Given the description of an element on the screen output the (x, y) to click on. 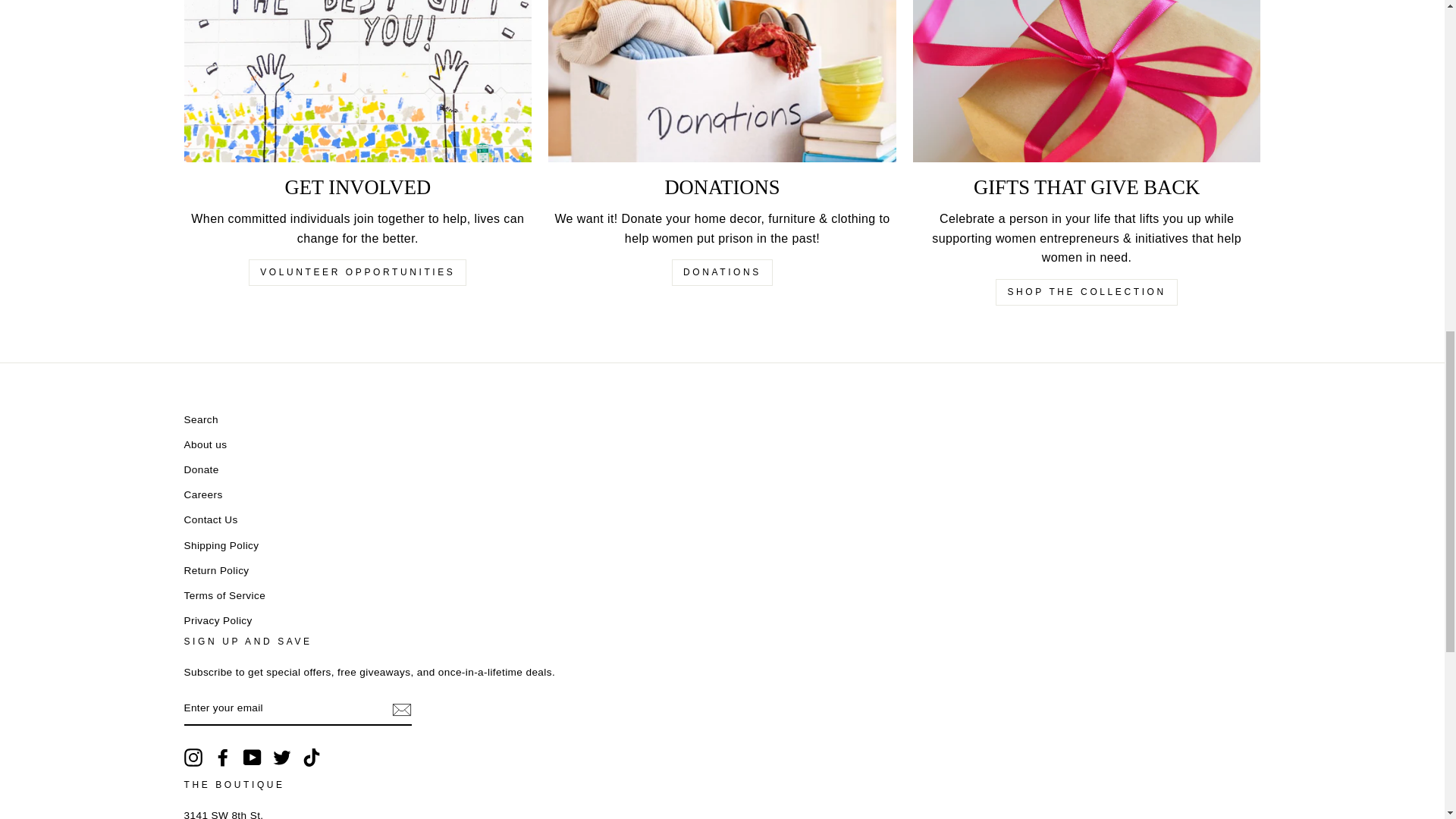
Dragonfly Thrift Boutique on YouTube (251, 757)
Dragonfly Thrift Boutique on TikTok (310, 757)
Dragonfly Thrift Boutique on Facebook (222, 757)
Dragonfly Thrift Boutique on Instagram (192, 757)
Dragonfly Thrift Boutique on Twitter (282, 757)
